Given the description of an element on the screen output the (x, y) to click on. 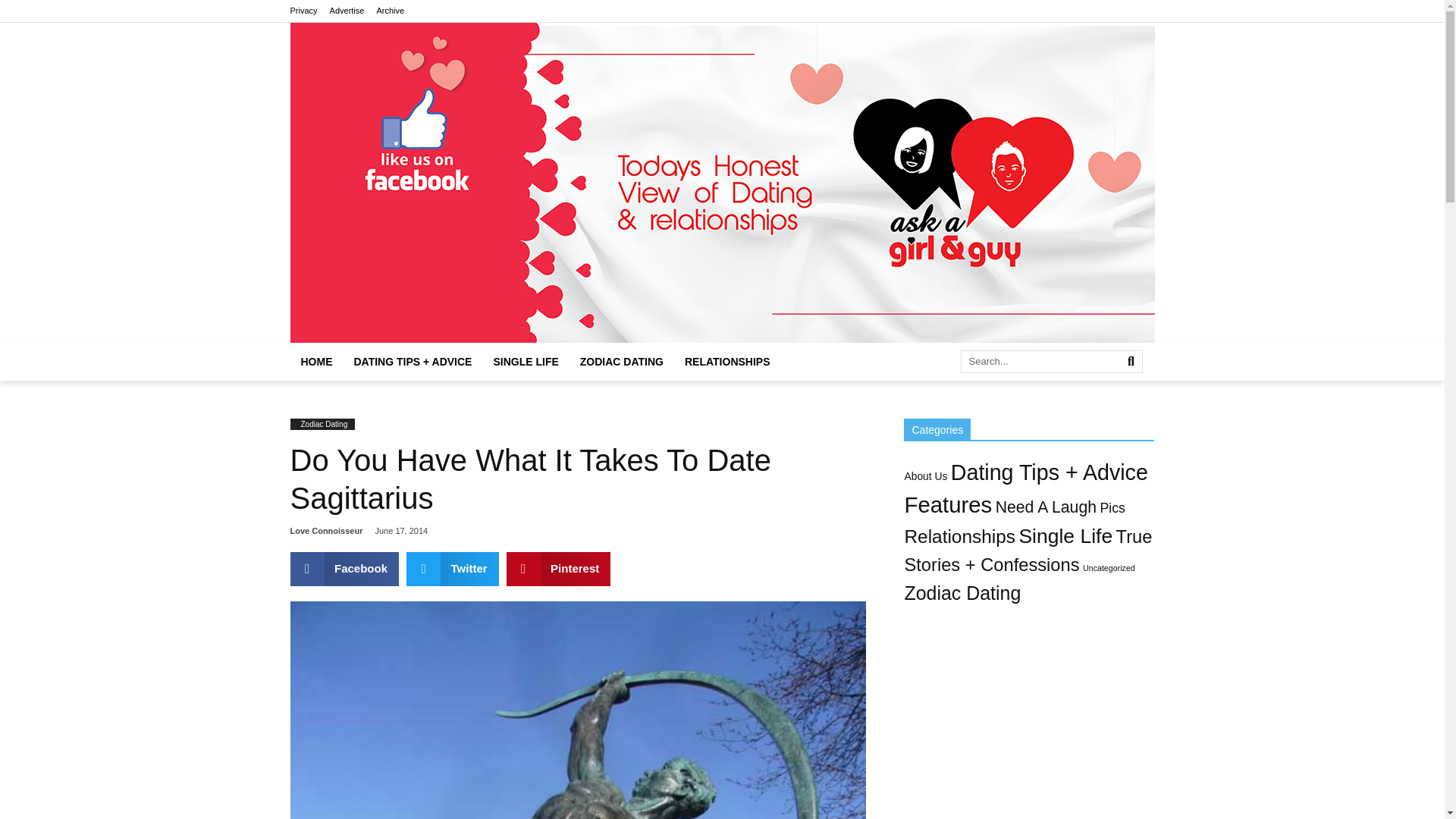
SINGLE LIFE (525, 361)
RELATIONSHIPS (727, 361)
About Us (925, 476)
Pics (1111, 507)
Love Connoisseur (325, 530)
Categories (937, 428)
June 17, 2014 (401, 530)
Advertise (347, 10)
ZODIAC DATING (621, 361)
Privacy (303, 10)
Features (947, 504)
Need A Laugh (1045, 506)
Zodiac Dating (323, 424)
HOME (315, 361)
Archive (389, 10)
